Given the description of an element on the screen output the (x, y) to click on. 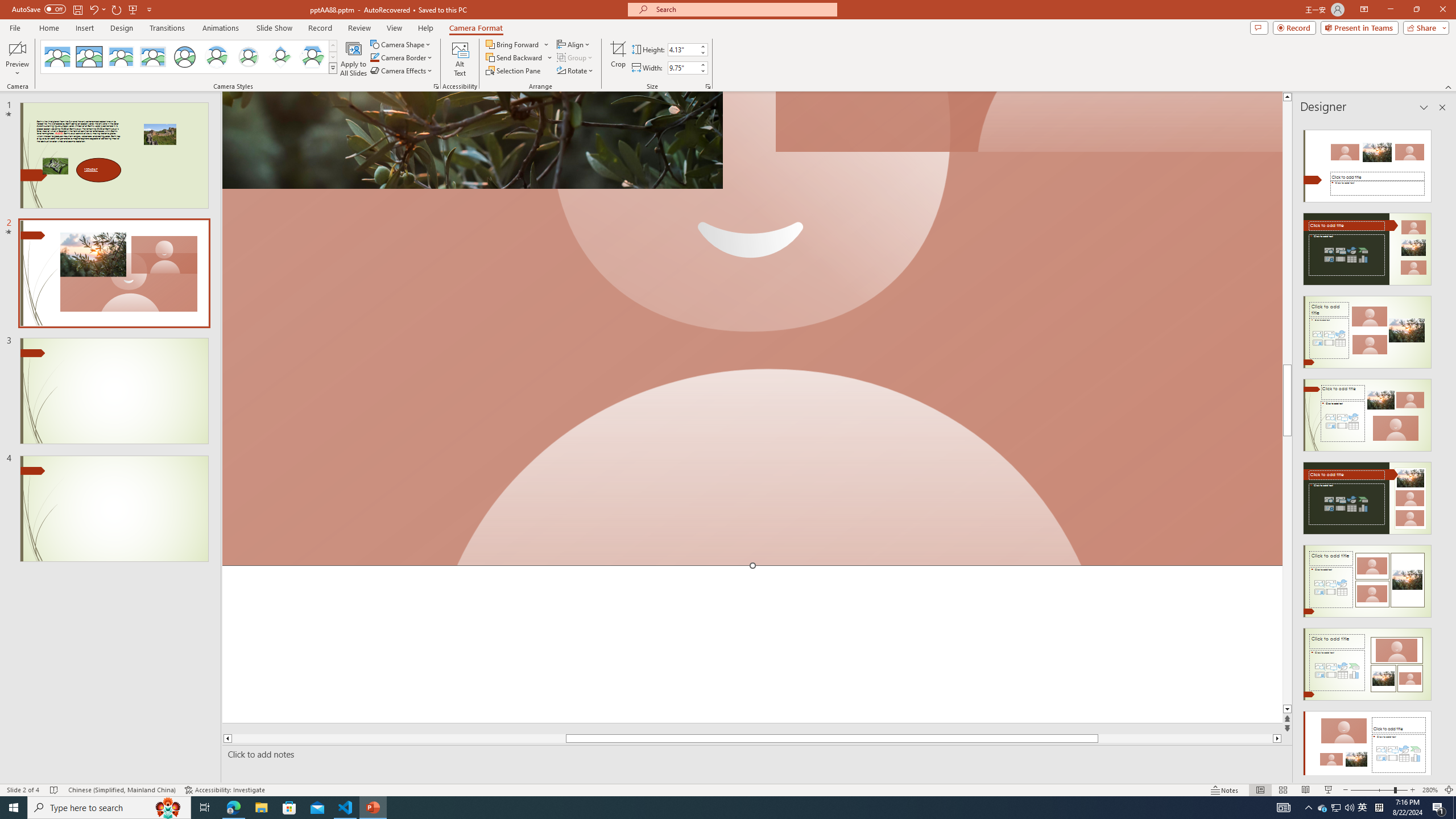
Enable Camera Preview (17, 48)
Camera Shape (400, 44)
No Style (57, 56)
Close up of an olive branch on a sunset (472, 140)
Camera Format (475, 28)
Simple Frame Rectangle (88, 56)
Simple Frame Circle (184, 56)
